Given the description of an element on the screen output the (x, y) to click on. 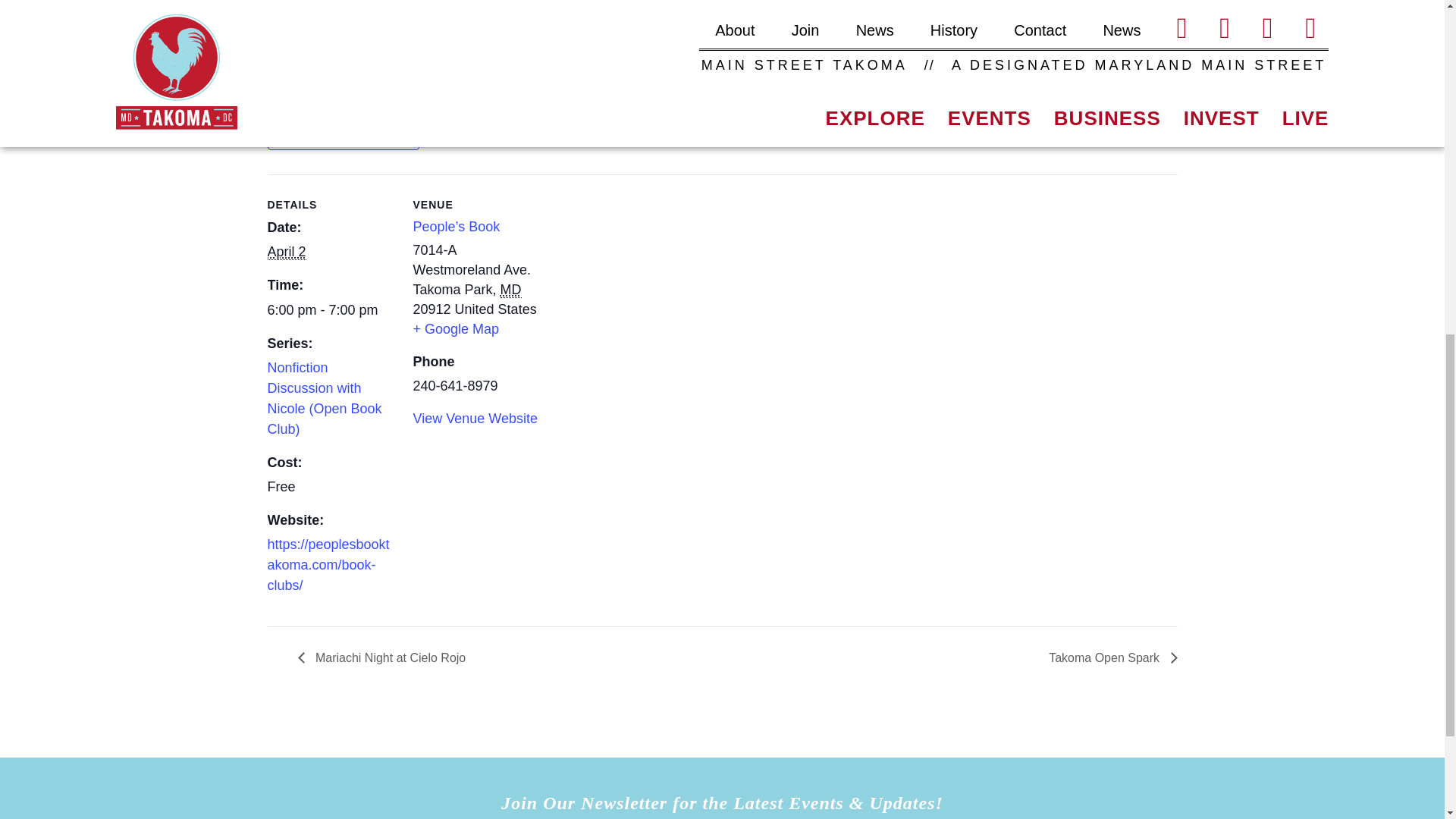
Click to view a Google Map (455, 328)
2024-04-02 (330, 310)
Maryland (510, 289)
2024-04-02 (285, 252)
